Given the description of an element on the screen output the (x, y) to click on. 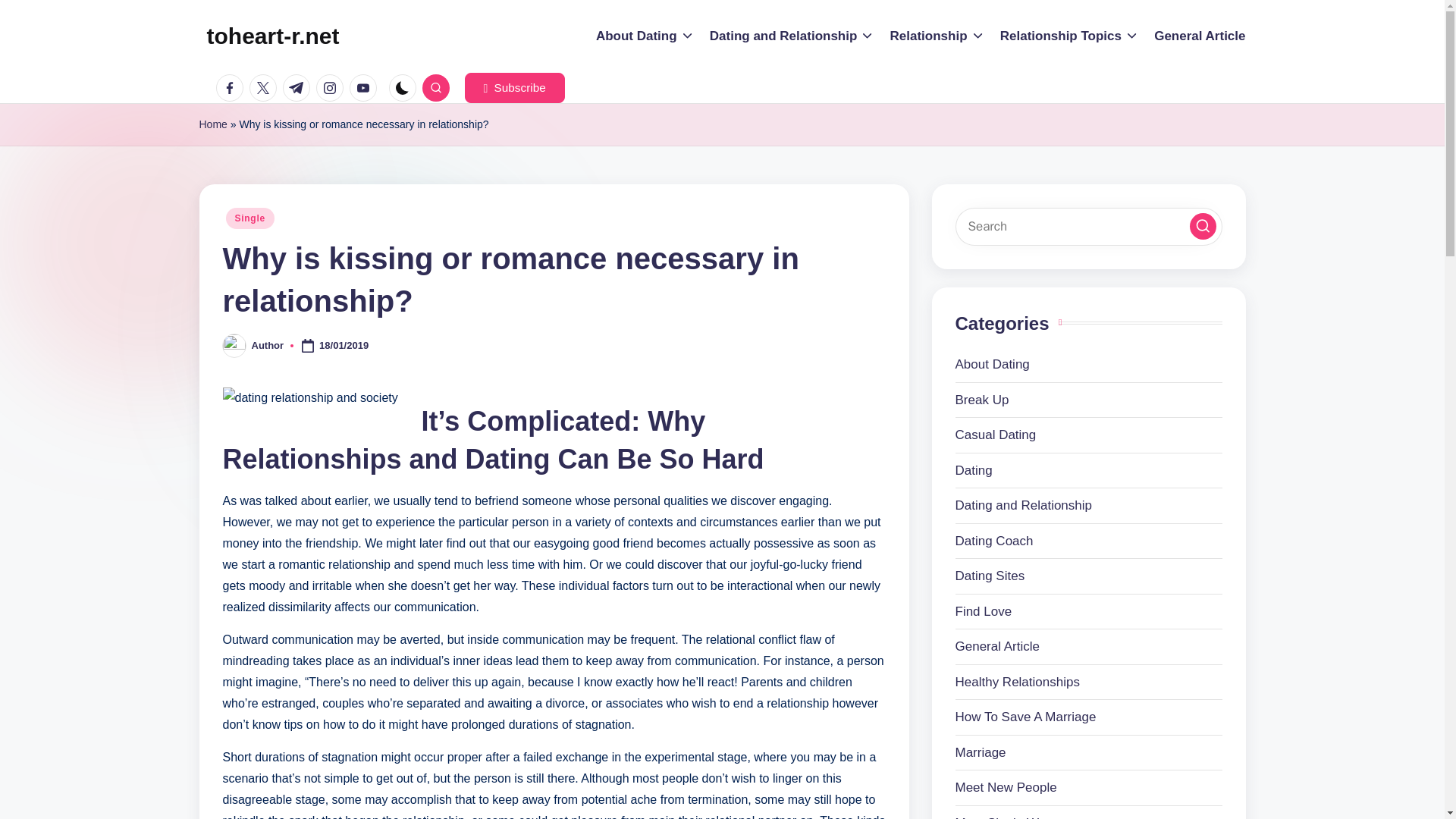
Relationship (937, 36)
View all posts by Author (267, 345)
Dating and Relationship (792, 36)
Relationship Topics (1069, 36)
instagram.com (332, 87)
twitter.com (265, 87)
facebook.com (231, 87)
General Article (1199, 36)
t.me (298, 87)
youtube.com (365, 87)
